Given the description of an element on the screen output the (x, y) to click on. 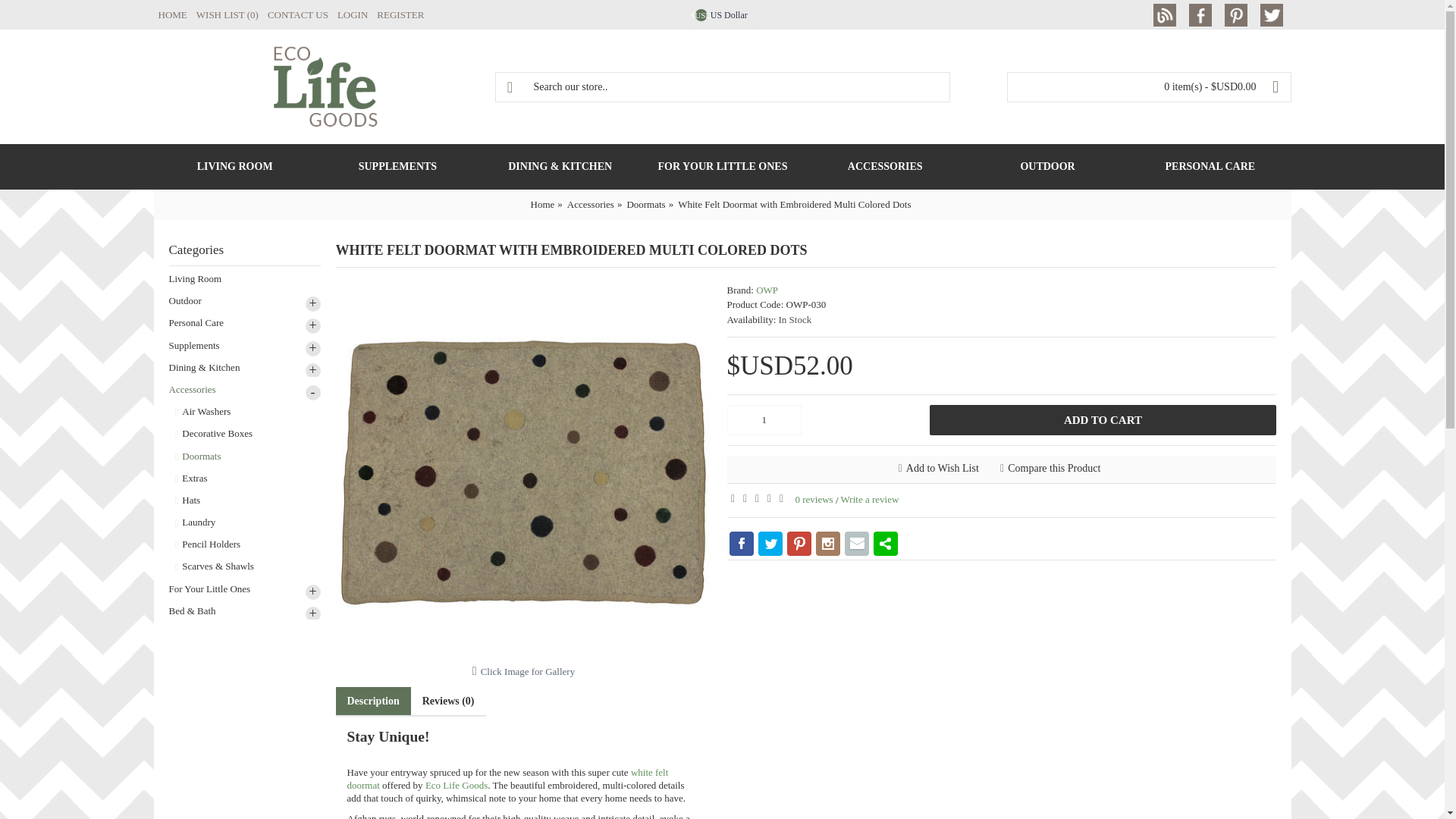
LIVING ROOM (233, 166)
Ecolife Goods (324, 87)
SUPPLEMENTS (398, 166)
1 (763, 419)
HOME (171, 15)
REGISTER (400, 15)
CONTACT US (298, 15)
FOR YOUR LITTLE ONES (722, 166)
LOGIN (352, 15)
